Given the description of an element on the screen output the (x, y) to click on. 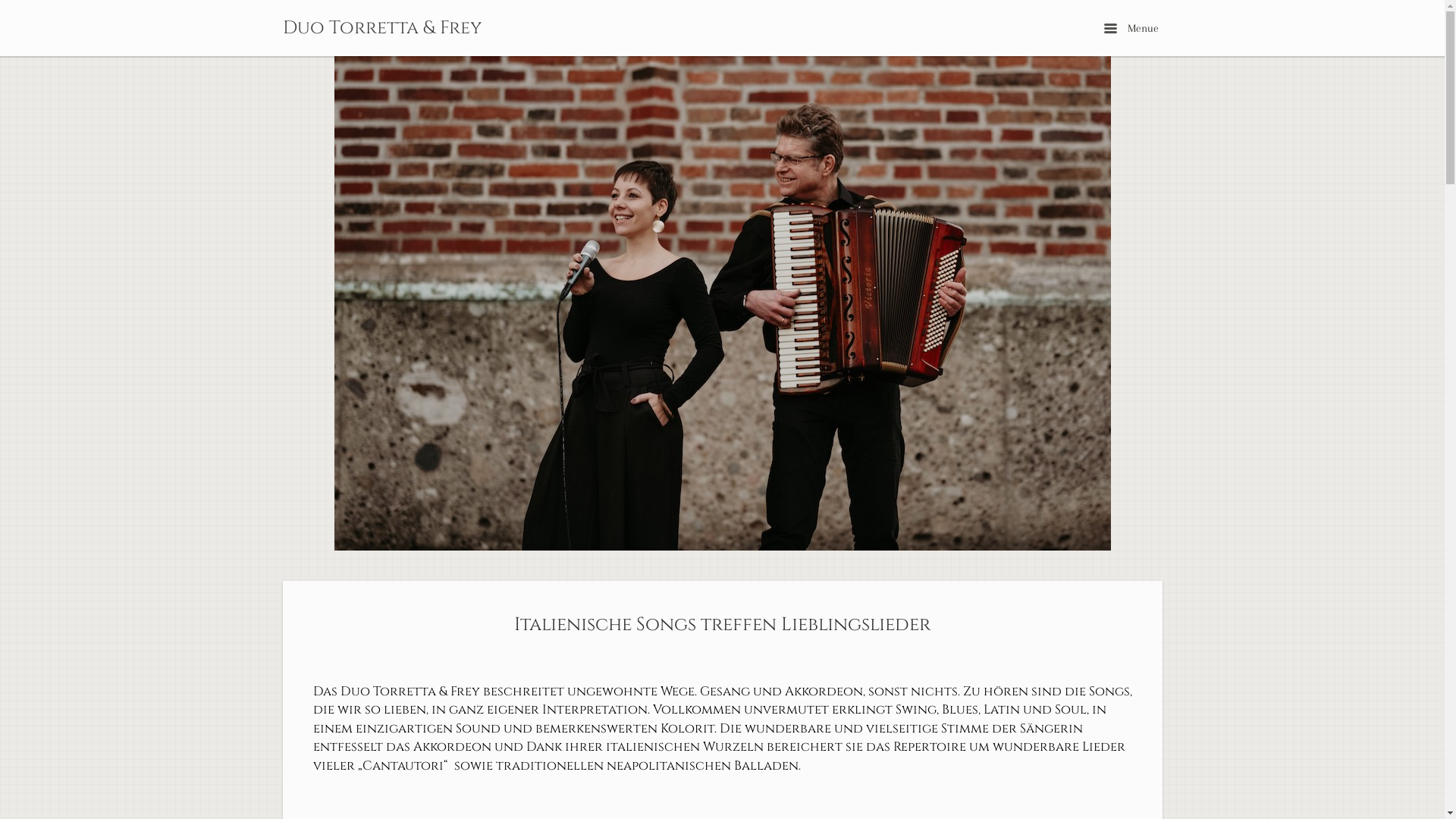
Menue Element type: text (1130, 27)
Duo Torretta & Frey Element type: text (381, 27)
